Given the description of an element on the screen output the (x, y) to click on. 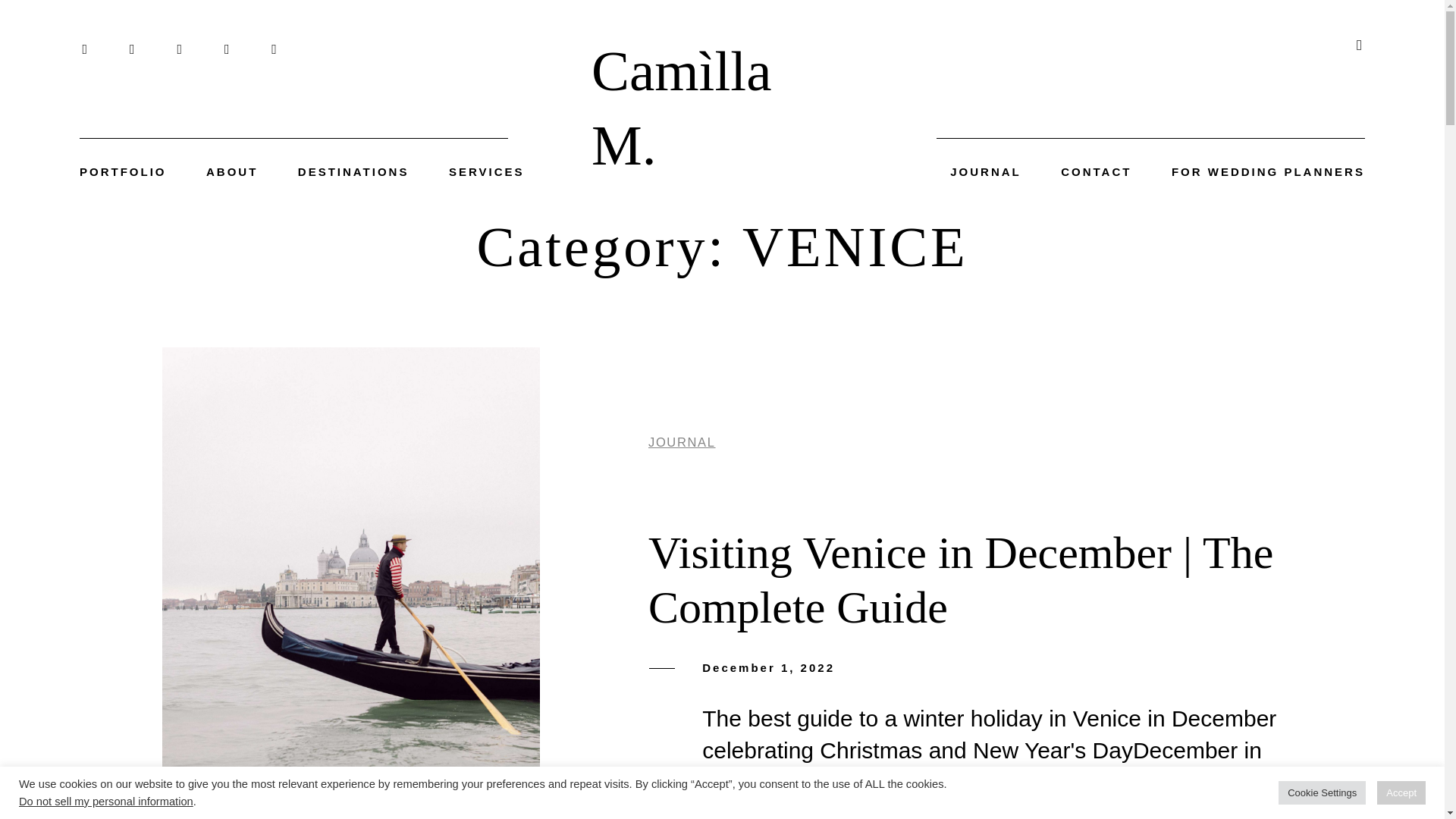
FOR WEDDING PLANNERS (1268, 171)
PORTFOLIO (123, 171)
ABOUT (231, 171)
SERVICES (486, 171)
DESTINATIONS (353, 171)
CONTACT (1096, 171)
JOURNAL (986, 171)
